Given the description of an element on the screen output the (x, y) to click on. 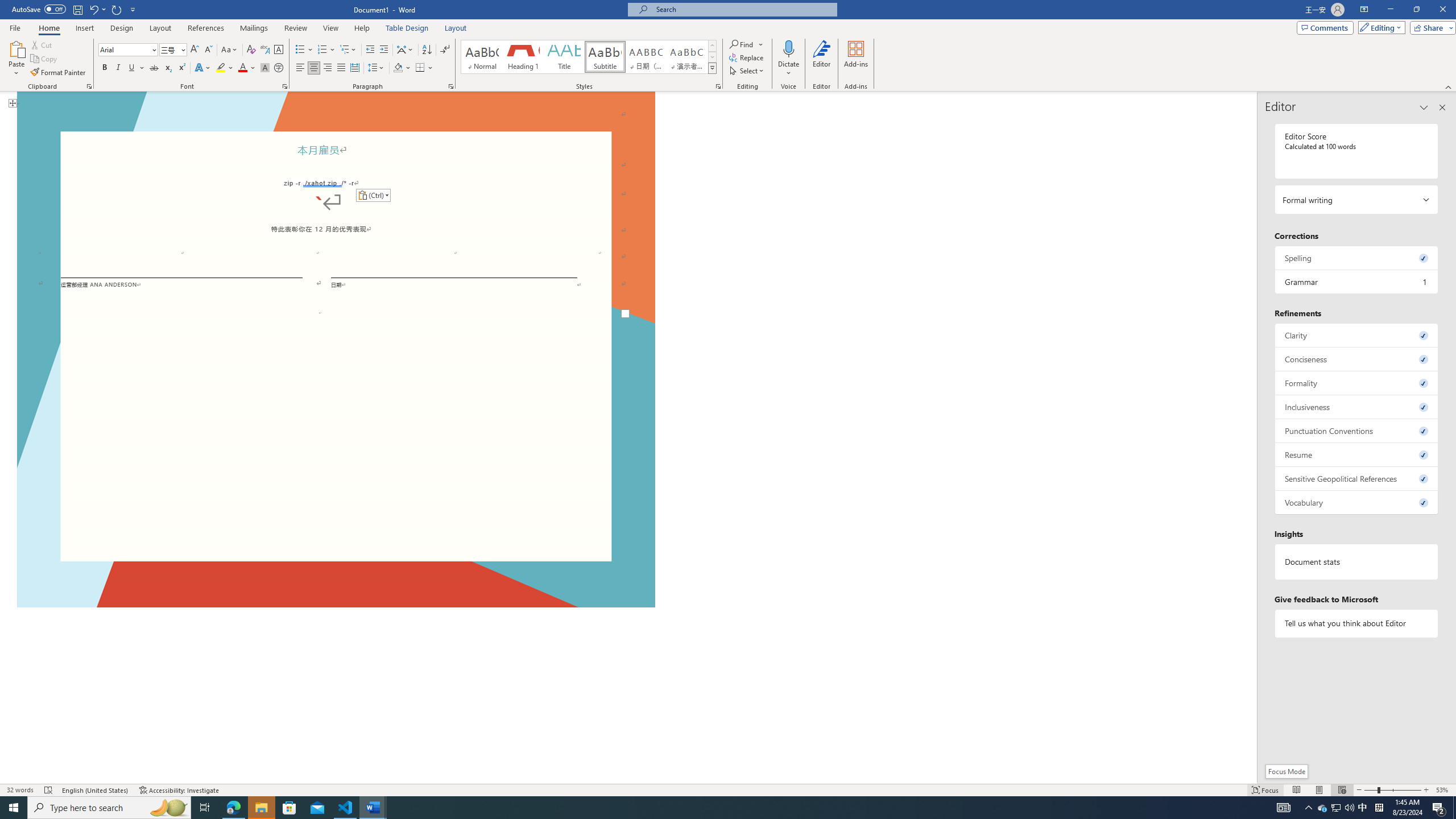
Conciseness, 0 issues. Press space or enter to review items. (1356, 359)
Action: Paste alternatives (373, 195)
